Given the description of an element on the screen output the (x, y) to click on. 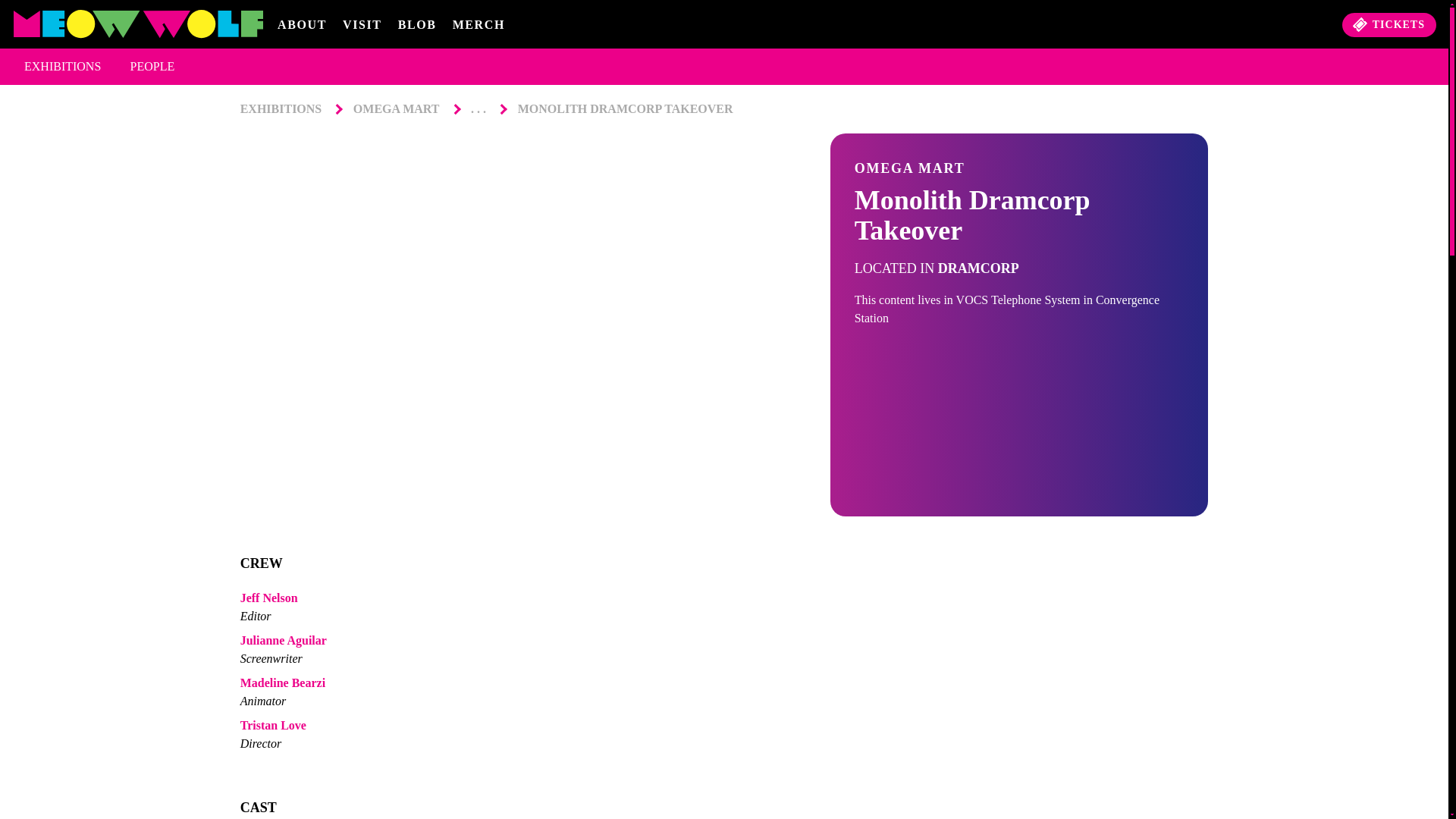
Jeff Nelson (724, 597)
DRAMCORP (978, 268)
People (155, 66)
Tristan Love (724, 725)
arrow icon (453, 107)
MERCH (478, 24)
EXHIBITIONS (65, 66)
OMEGA MART (396, 108)
ABOUT (302, 24)
Madeline Bearzi (724, 683)
